Given the description of an element on the screen output the (x, y) to click on. 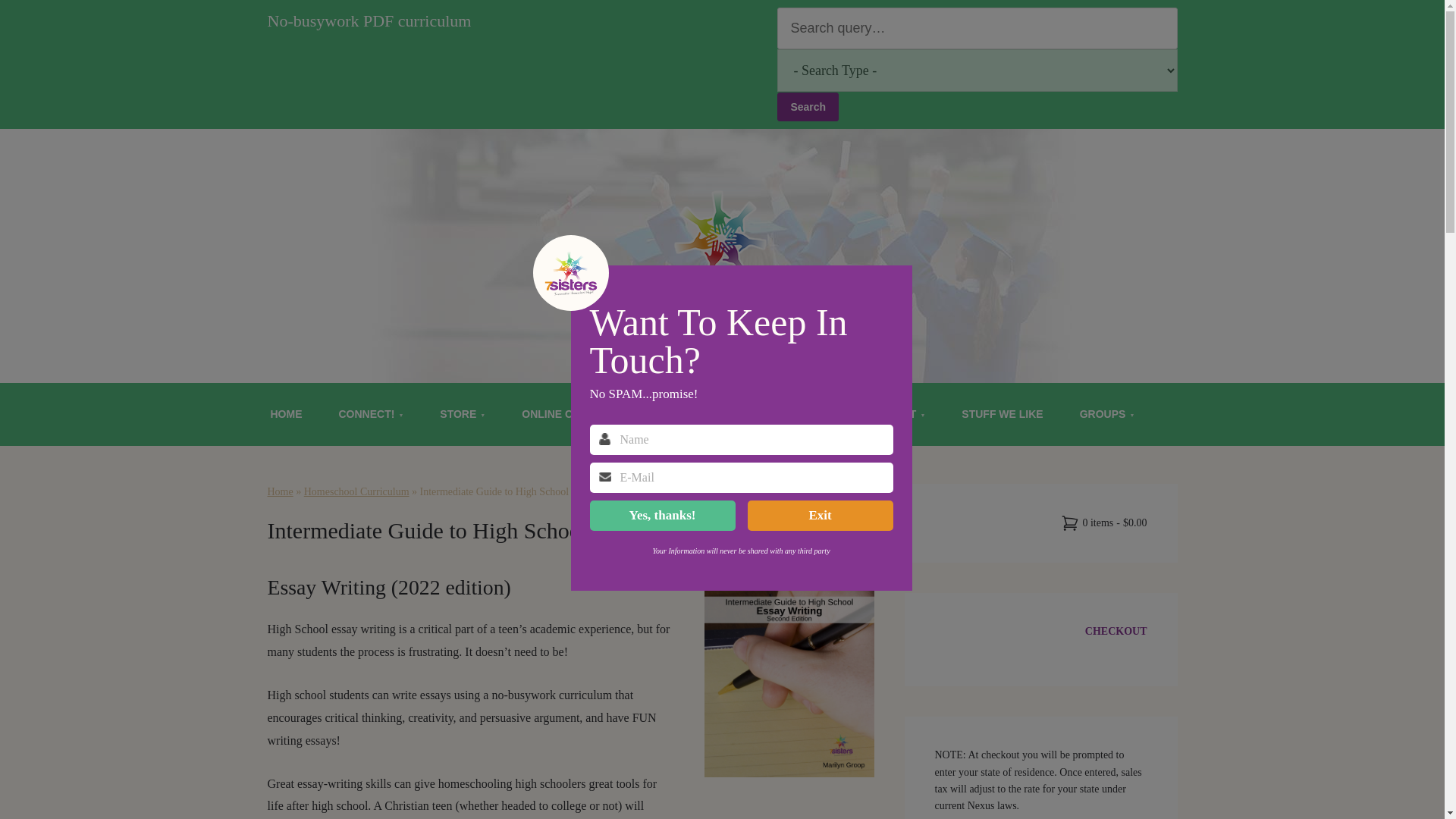
Yes, thanks! (662, 515)
Search (807, 106)
STORE (462, 414)
STATE REIMBURSEMENT (718, 414)
HOME (285, 414)
CONNECT! (371, 414)
GROUPS (1107, 414)
Exit (820, 515)
Search (807, 106)
STUFF WE LIKE (1002, 414)
ONLINE COURSES (568, 414)
